Given the description of an element on the screen output the (x, y) to click on. 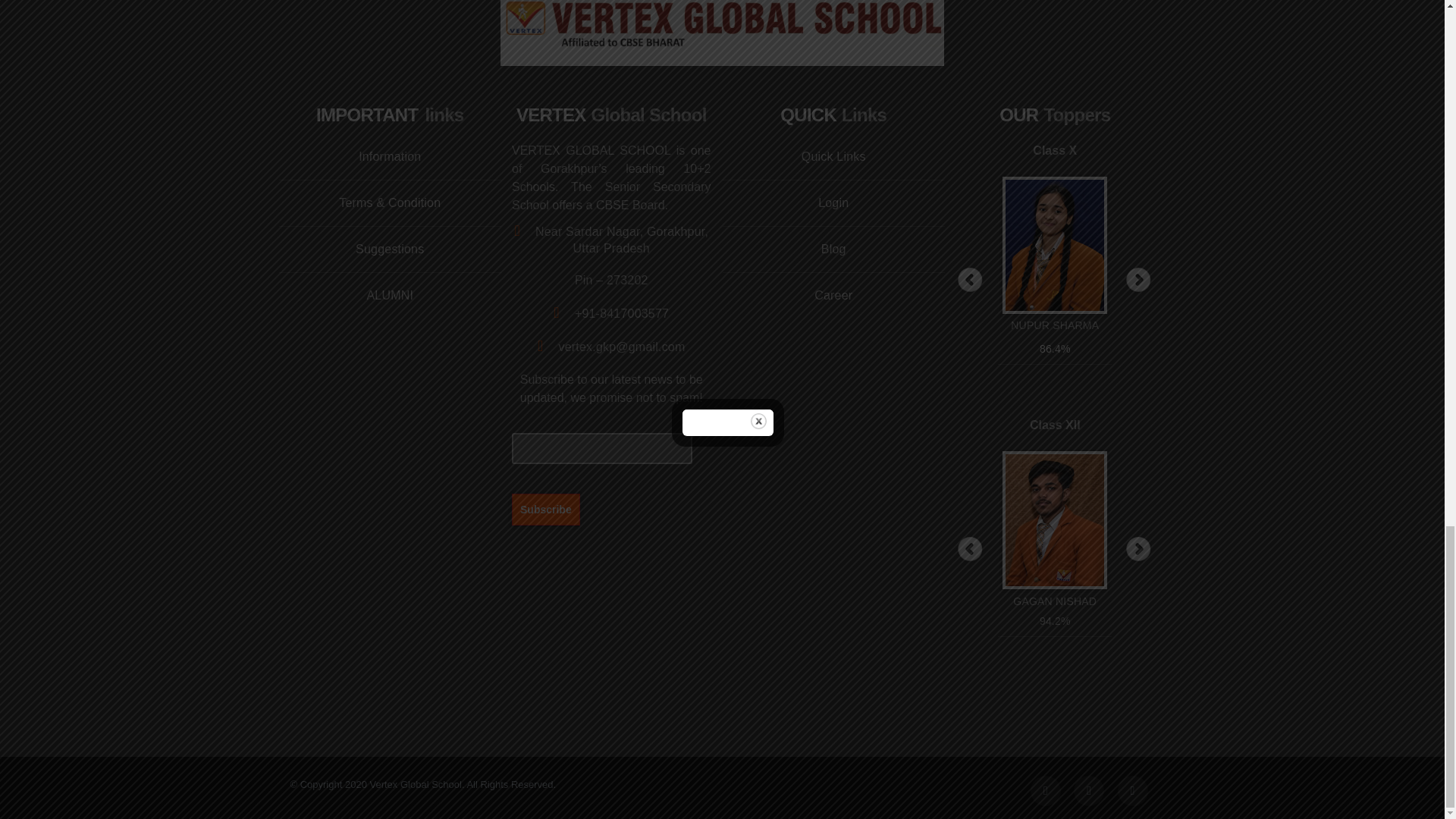
Subscribe (545, 508)
